Given the description of an element on the screen output the (x, y) to click on. 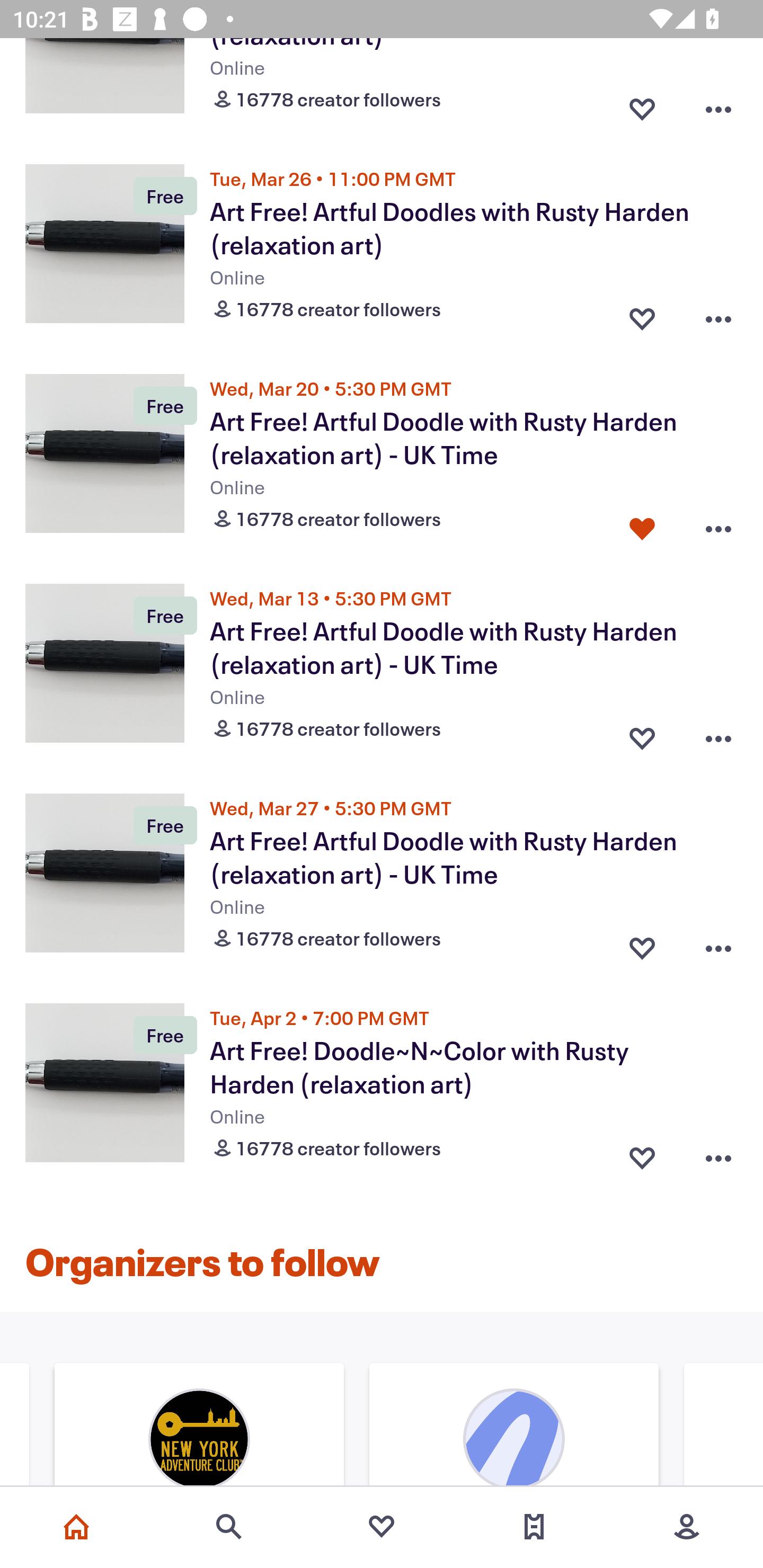
Favorite button (642, 105)
Overflow menu button (718, 105)
Favorite button (642, 314)
Overflow menu button (718, 314)
Favorite button (642, 524)
Overflow menu button (718, 524)
Favorite button (642, 734)
Overflow menu button (718, 734)
Favorite button (642, 944)
Overflow menu button (718, 944)
Favorite button (642, 1153)
Overflow menu button (718, 1153)
Organizer's image (199, 1426)
Organizer's image (513, 1426)
Home (76, 1526)
Search events (228, 1526)
Favorites (381, 1526)
Tickets (533, 1526)
More (686, 1526)
